Given the description of an element on the screen output the (x, y) to click on. 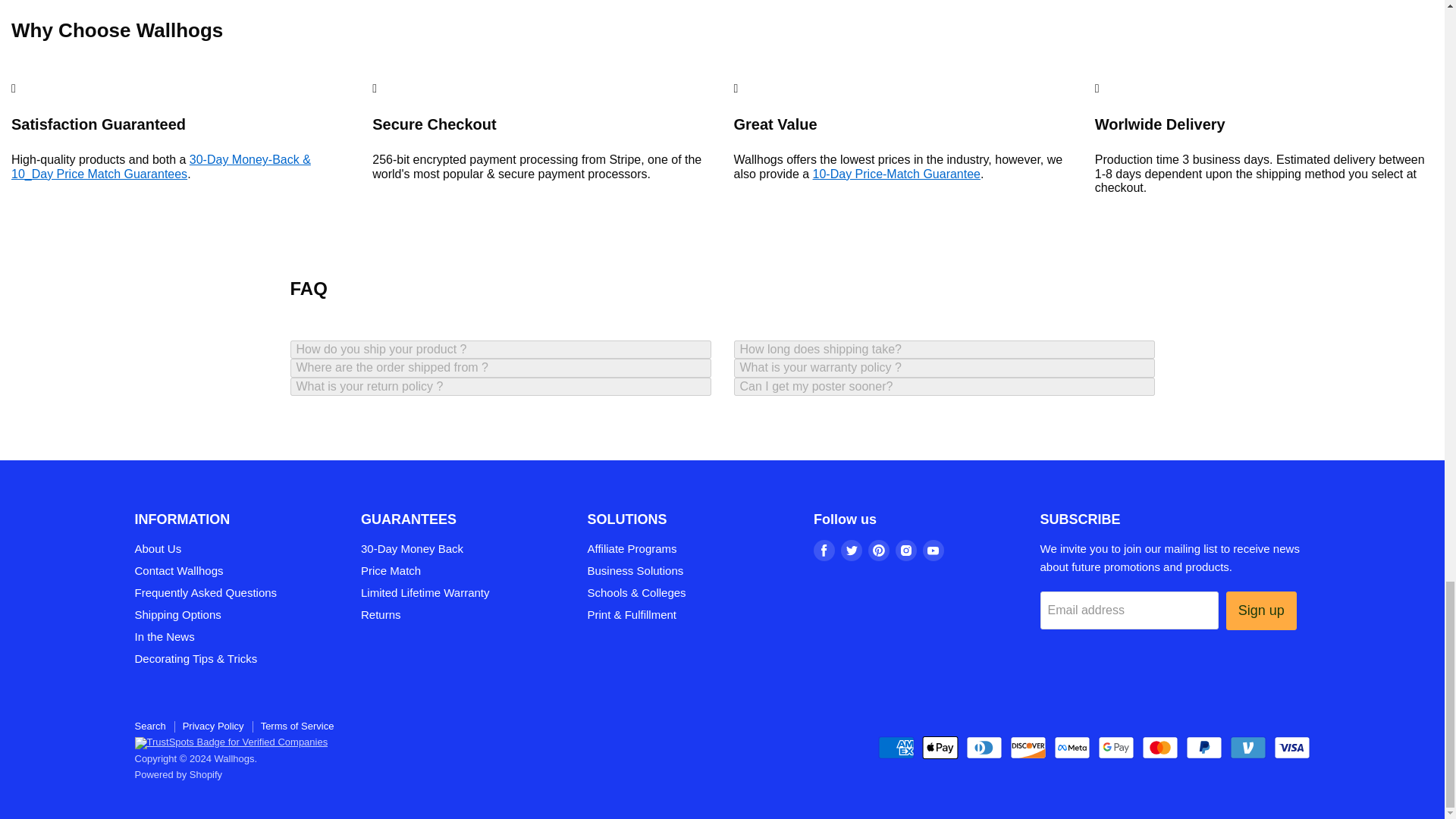
Youtube (933, 550)
Mastercard (1159, 747)
American Express (895, 747)
Twitter (851, 550)
Instagram (906, 550)
Discover (1028, 747)
Venmo (1248, 747)
Apple Pay (939, 747)
Facebook (823, 550)
Pinterest (878, 550)
Meta Pay (1072, 747)
Google Pay (1115, 747)
Diners Club (984, 747)
PayPal (1204, 747)
